Given the description of an element on the screen output the (x, y) to click on. 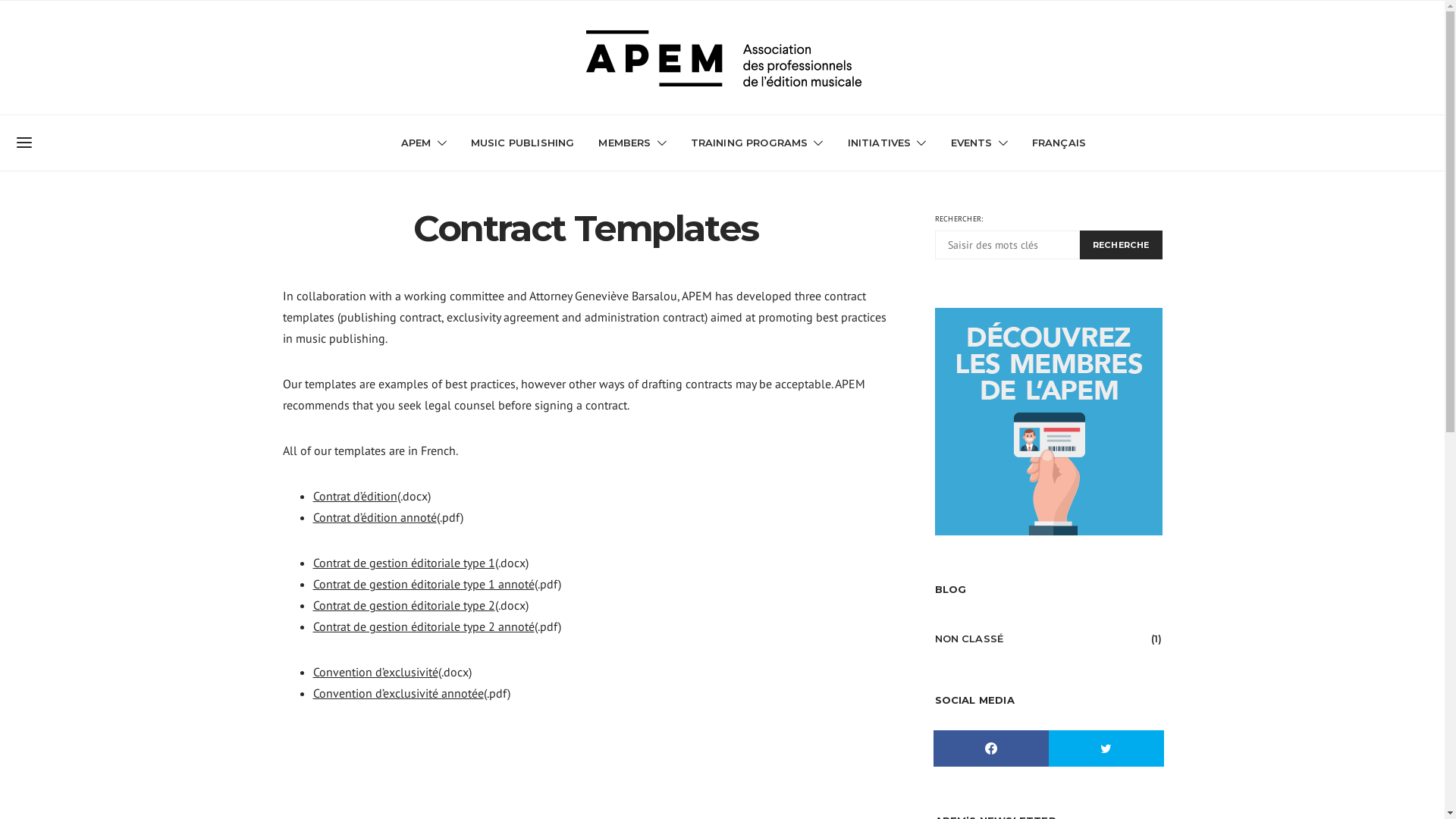
MEMBERS Element type: text (631, 142)
INITIATIVES Element type: text (886, 142)
TRAINING PROGRAMS Element type: text (756, 142)
EVENTS Element type: text (978, 142)
MUSIC PUBLISHING Element type: text (522, 142)
APEM Element type: text (423, 142)
RECHERCHE Element type: text (1120, 244)
